Given the description of an element on the screen output the (x, y) to click on. 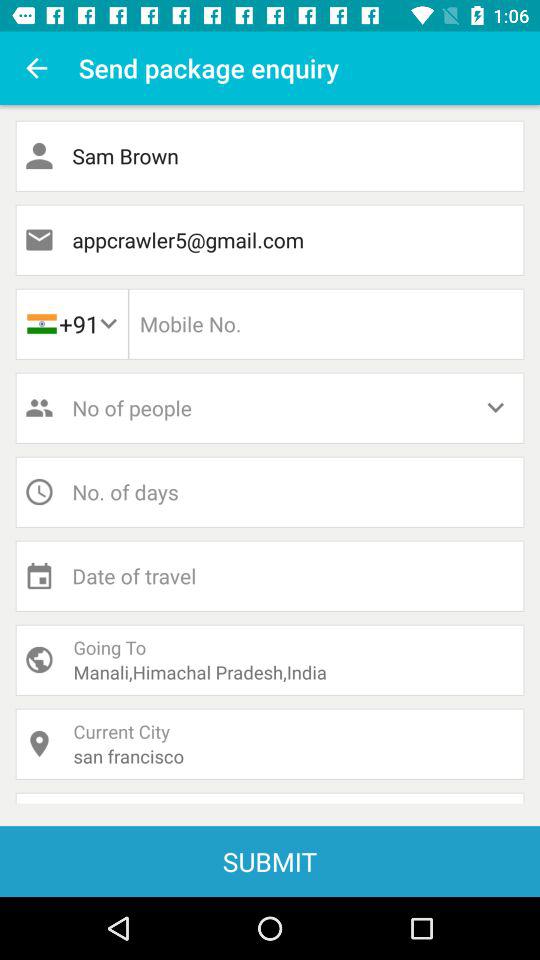
enter the mobile number (326, 323)
